Given the description of an element on the screen output the (x, y) to click on. 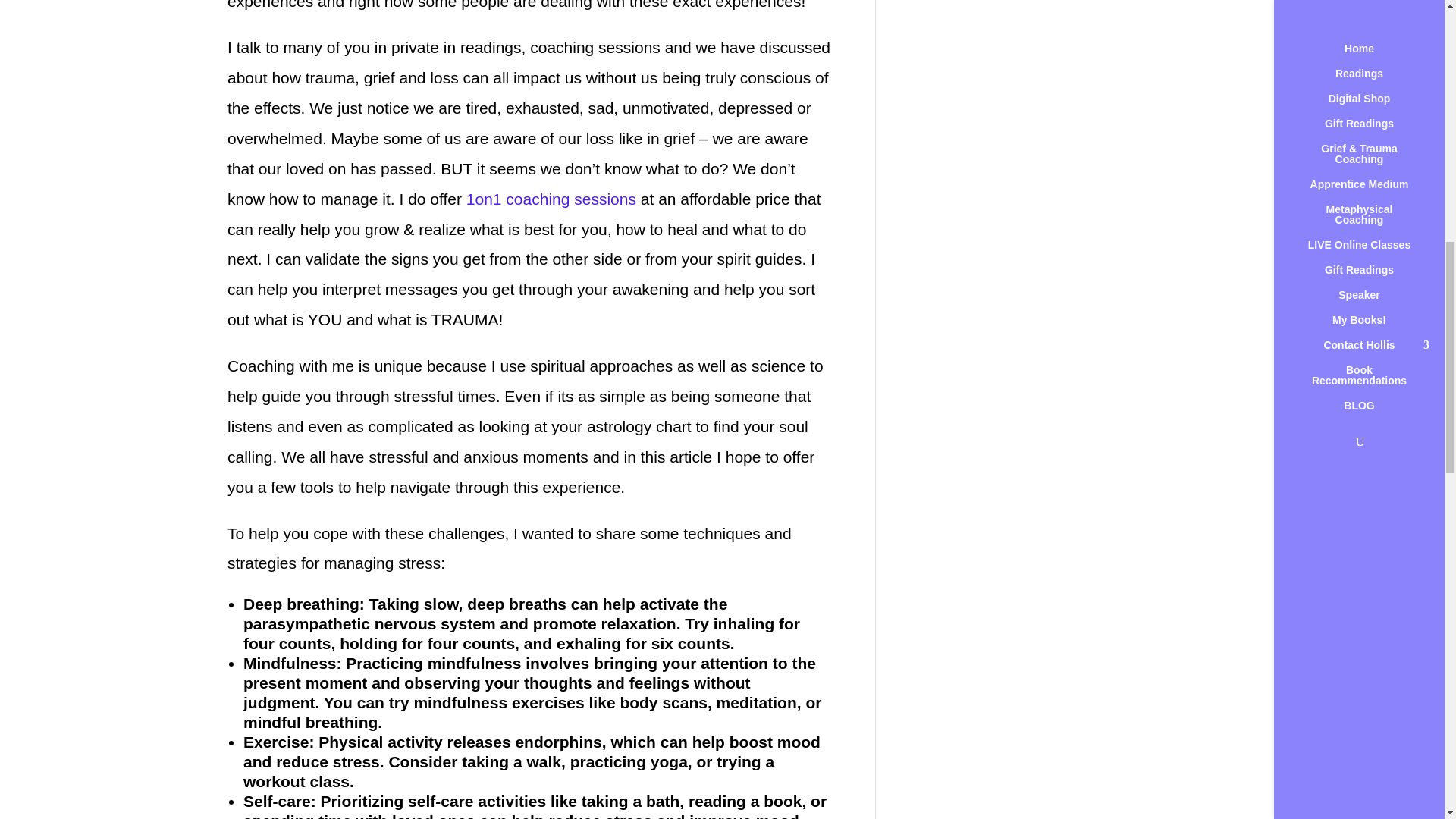
1on1 coaching sessions (550, 199)
